Given the description of an element on the screen output the (x, y) to click on. 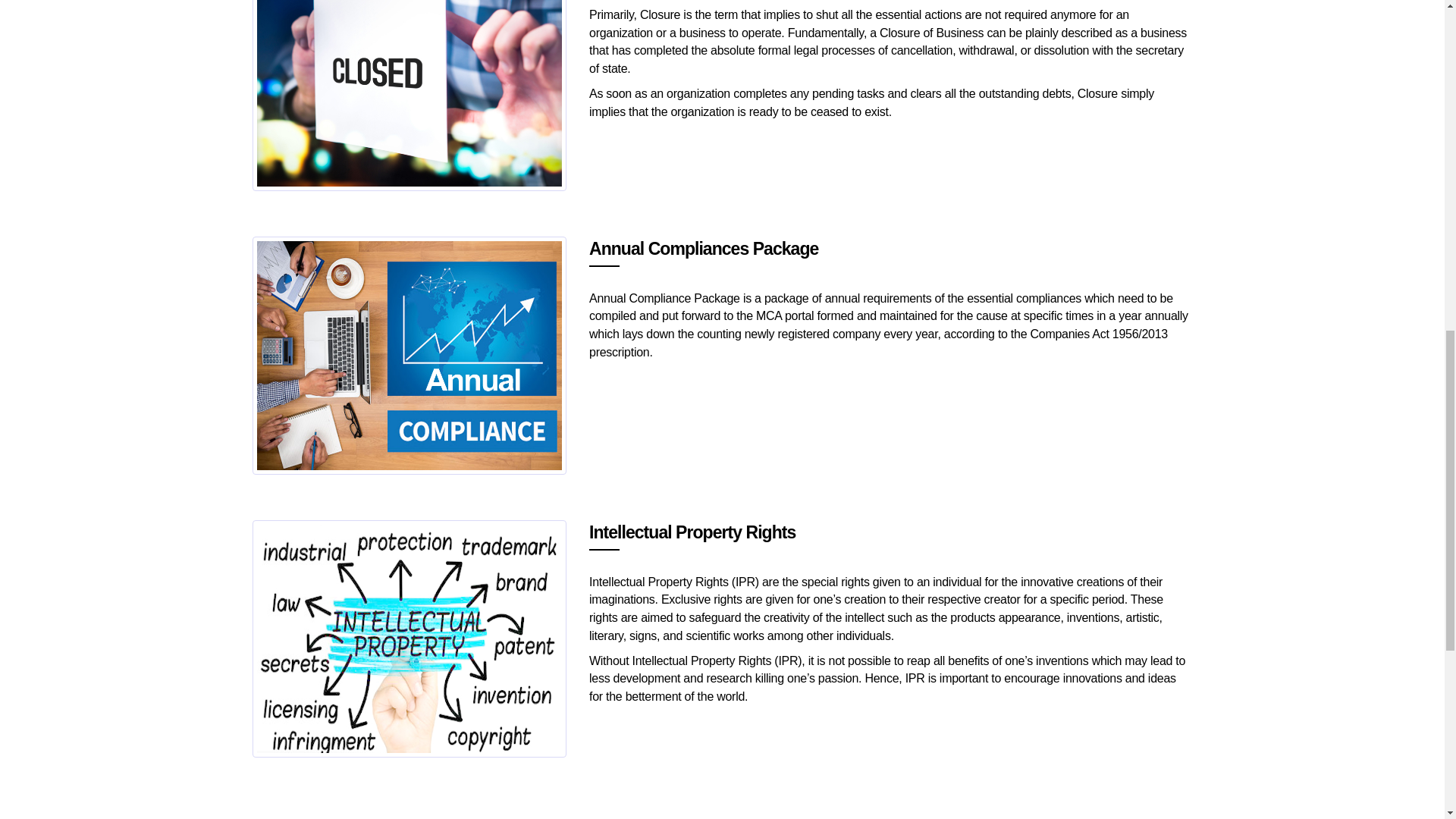
Closure of Business (409, 93)
Annual Compliances Package (409, 355)
